Given the description of an element on the screen output the (x, y) to click on. 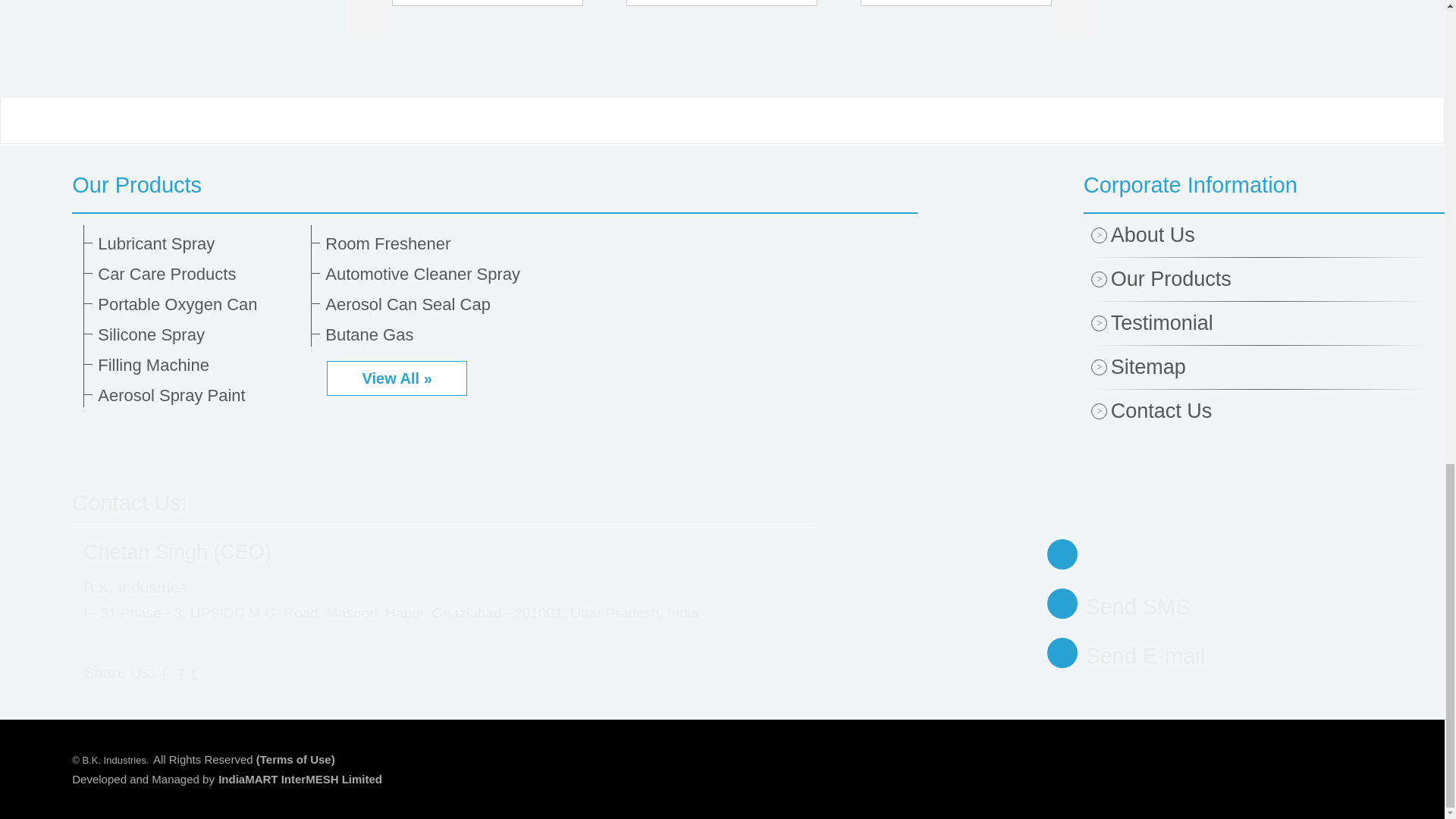
Aerosol Spray Paint (198, 395)
Contact Us: (129, 502)
Our Products (494, 185)
Portable Oxygen Can (198, 304)
Filling Machine (198, 365)
Room Freshener (426, 244)
Aerosol Can Seal Cap (426, 304)
Butane Gas (426, 334)
Car Care Products (198, 274)
Automotive Cleaner Spray (426, 274)
